Given the description of an element on the screen output the (x, y) to click on. 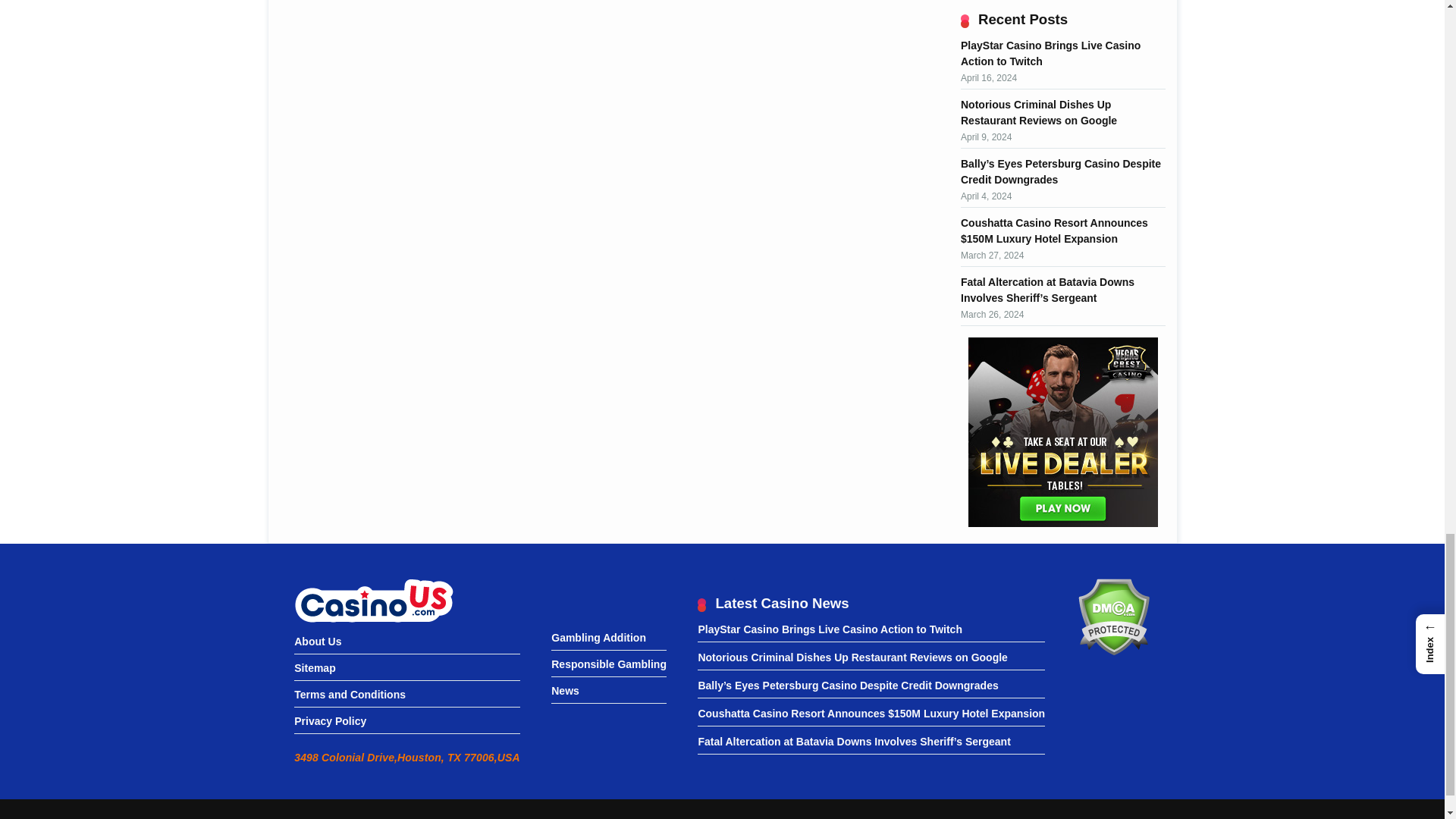
Vegas Crest Casino for American Players (1062, 432)
Casino US (373, 600)
DMCA.com Protection Status (1113, 652)
